Given the description of an element on the screen output the (x, y) to click on. 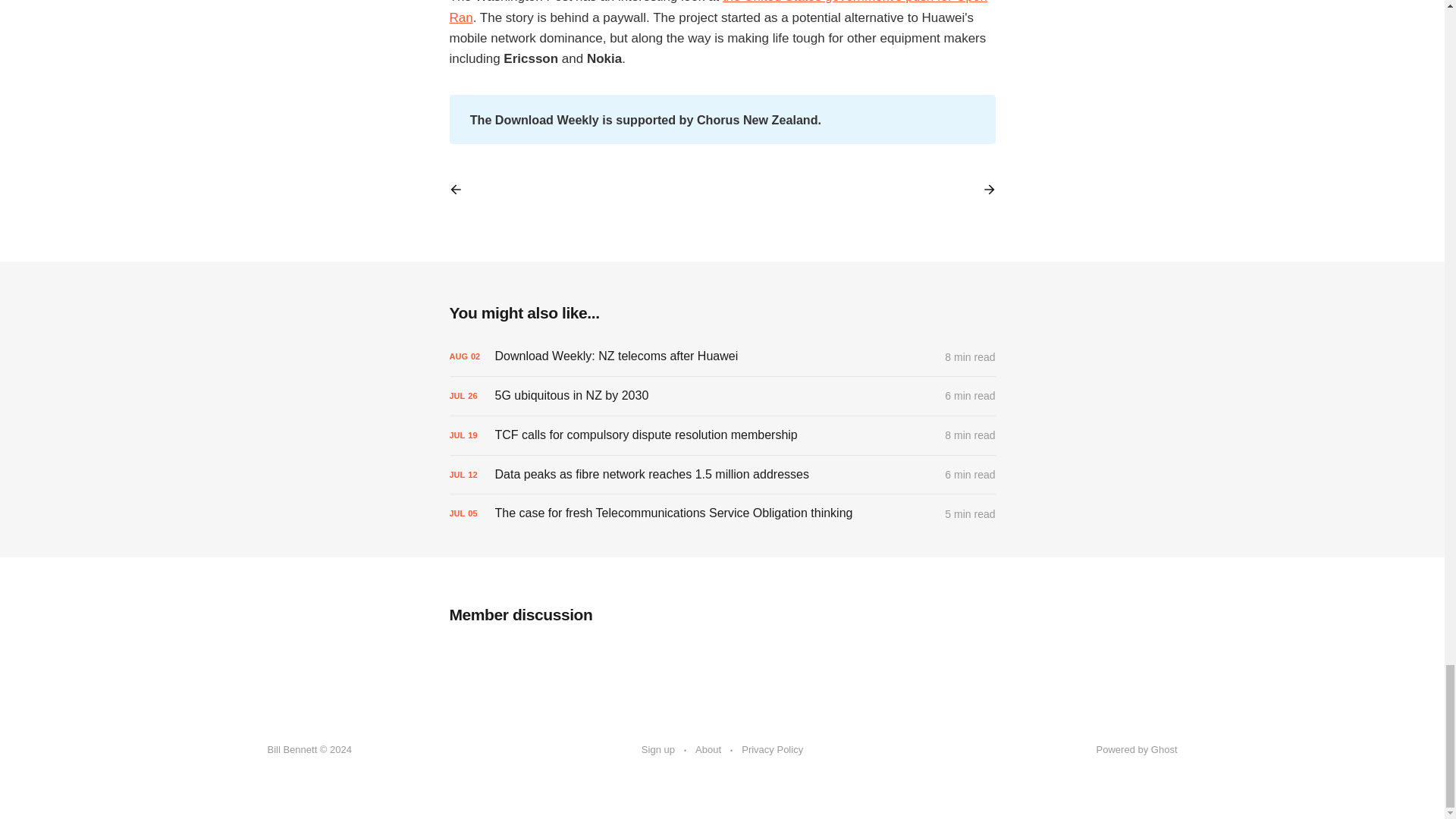
Privacy Policy (772, 750)
the United States government's push for Open Ran (717, 12)
About (707, 750)
Powered by Ghost (1136, 749)
Sign up (658, 750)
